Given the description of an element on the screen output the (x, y) to click on. 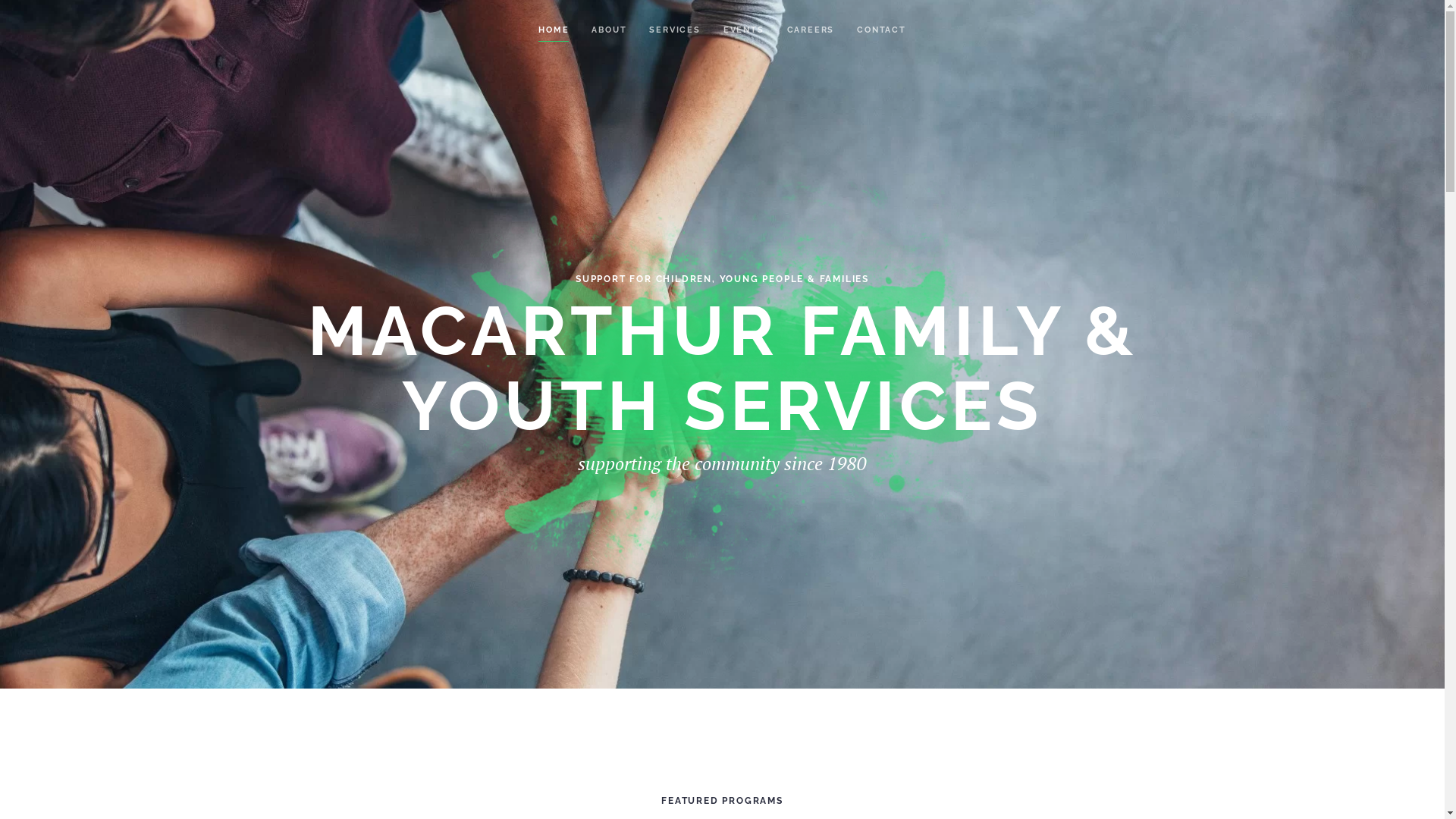
SERVICES Element type: text (674, 30)
HOME Element type: text (553, 30)
ABOUT Element type: text (608, 30)
CONTACT Element type: text (881, 30)
EVENTS Element type: text (743, 30)
CAREERS Element type: text (810, 30)
